Given the description of an element on the screen output the (x, y) to click on. 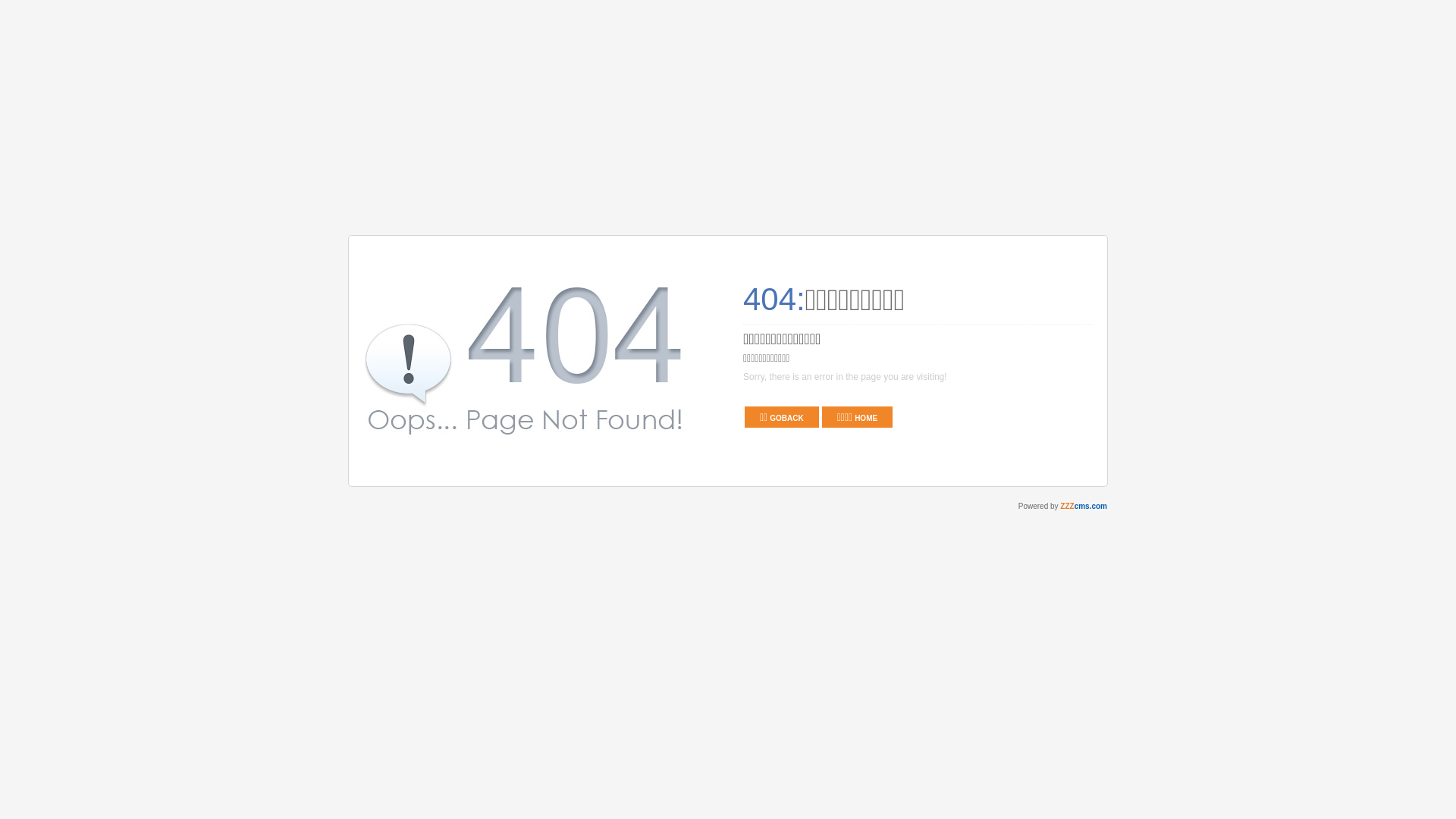
ZZZcms.com Element type: text (1083, 506)
